Given the description of an element on the screen output the (x, y) to click on. 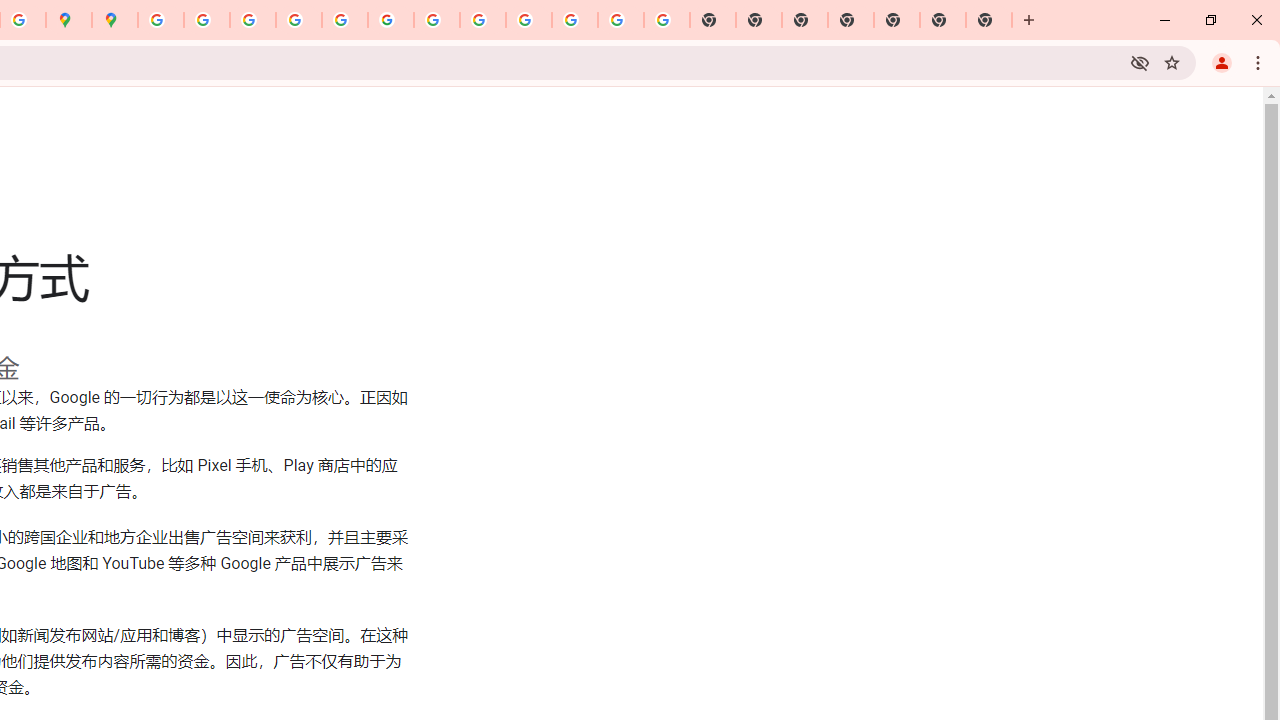
New Tab (851, 20)
Privacy Help Center - Policies Help (253, 20)
New Tab (989, 20)
YouTube (436, 20)
